Given the description of an element on the screen output the (x, y) to click on. 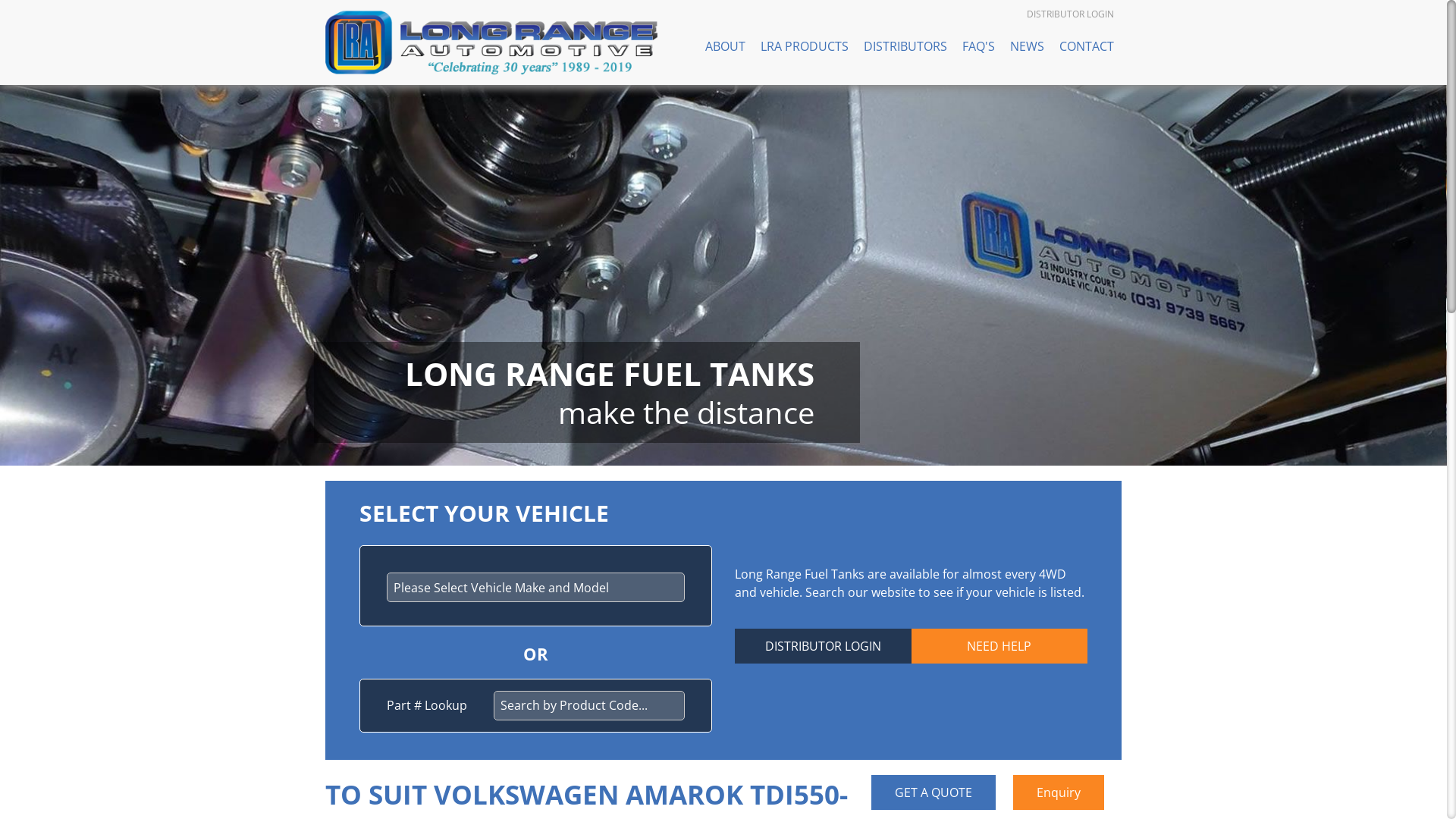
FAQ'S Element type: text (978, 45)
DISTRIBUTOR LOGIN Element type: text (1073, 13)
Enquiry Element type: text (1058, 792)
ABOUT Element type: text (725, 45)
NEED HELP Element type: text (999, 645)
DISTRIBUTORS Element type: text (905, 45)
LRA PRODUCTS Element type: text (804, 45)
GET A QUOTE Element type: text (933, 792)
DISTRIBUTOR LOGIN Element type: text (822, 645)
NEWS Element type: text (1026, 45)
CONTACT Element type: text (1086, 45)
